Given the description of an element on the screen output the (x, y) to click on. 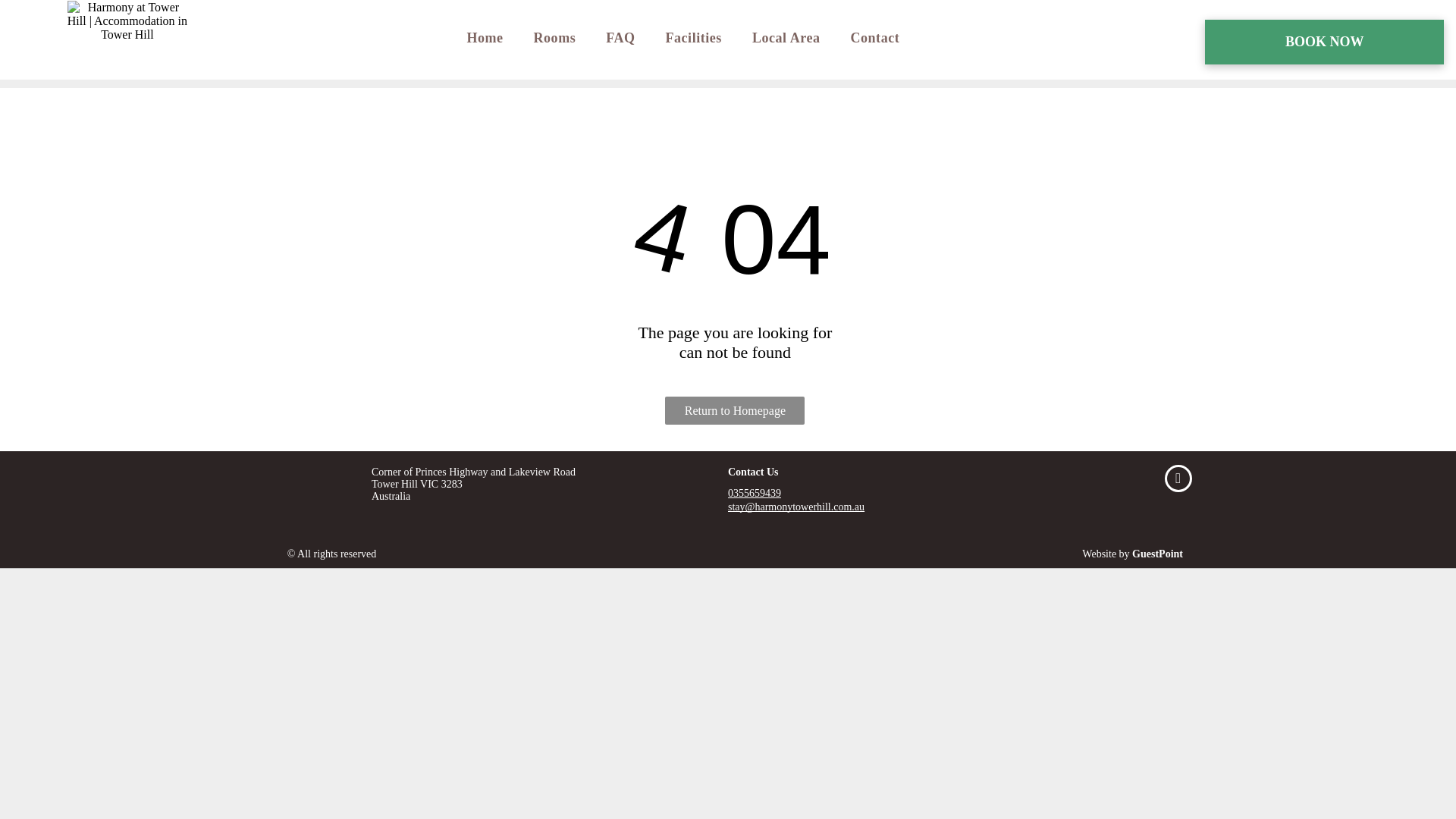
Facilities (693, 37)
FAQ (620, 37)
Local Area (785, 37)
BOOK NOW (1324, 41)
Contact (874, 37)
GuestPoint (1157, 553)
0355659439 (754, 492)
Home (484, 37)
Rooms (554, 37)
Return to Homepage (735, 410)
